Given the description of an element on the screen output the (x, y) to click on. 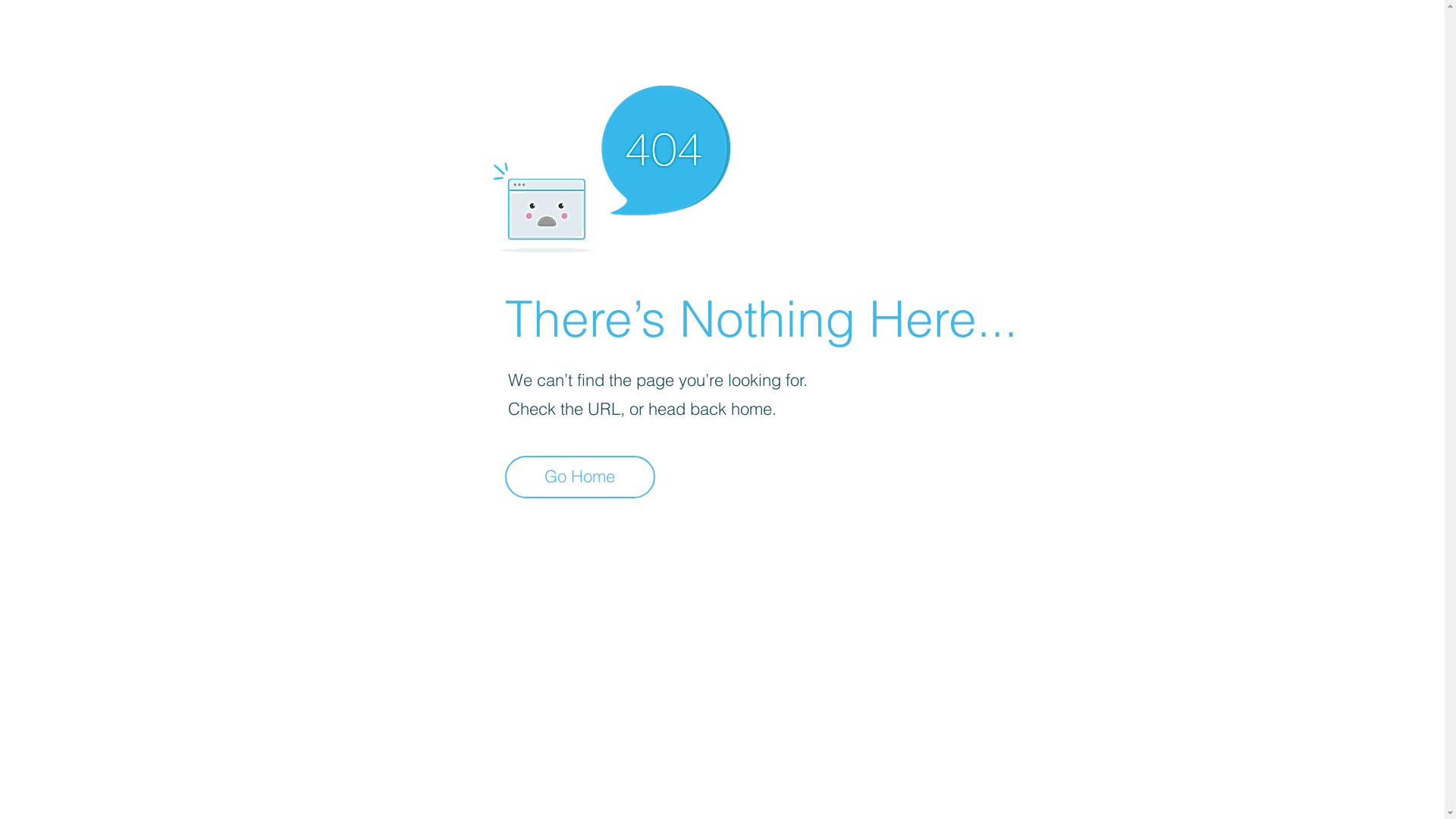
Go Home Element type: text (580, 476)
404-icon_2.png Element type: hover (610, 164)
